Given the description of an element on the screen output the (x, y) to click on. 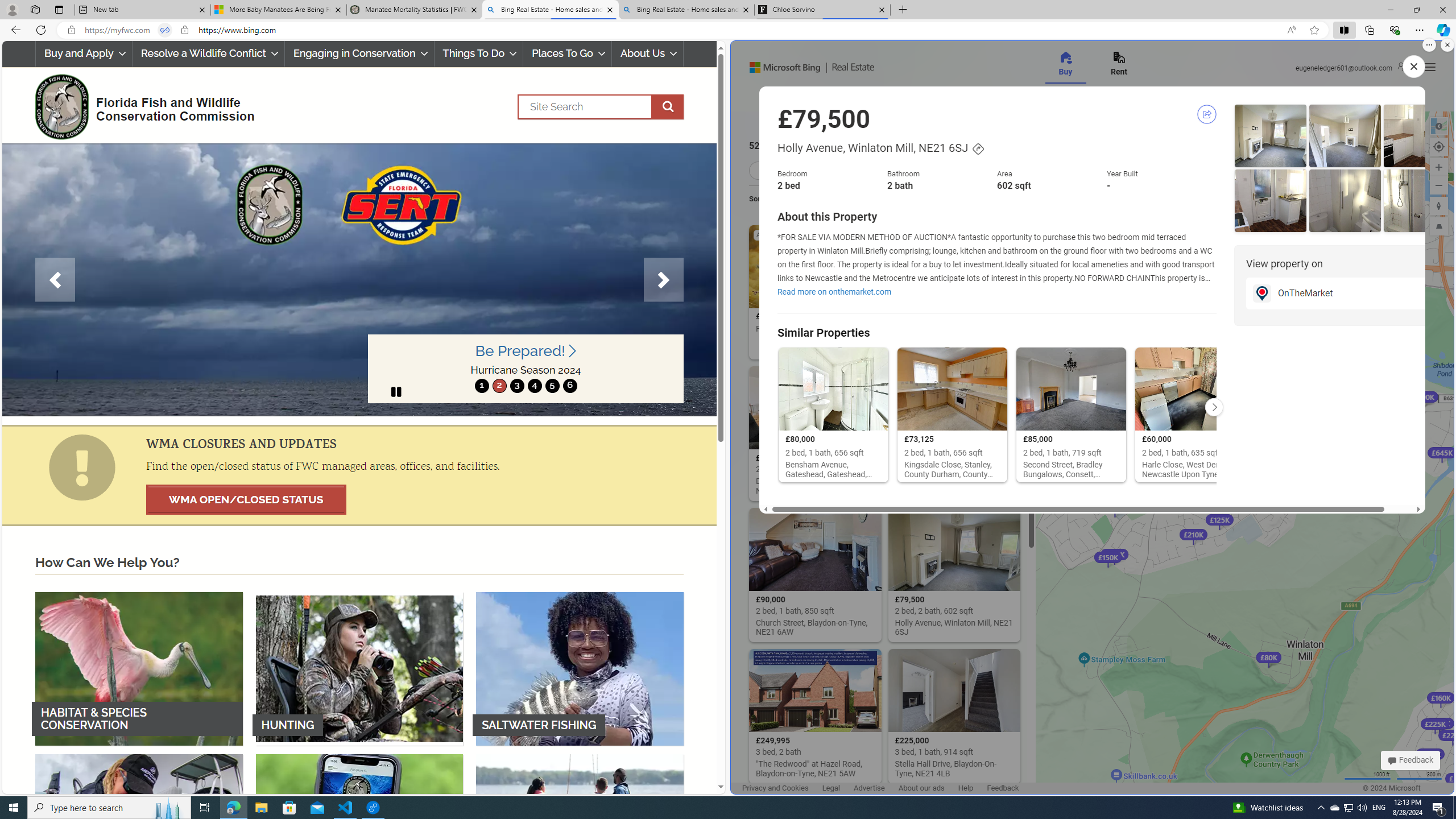
1 (481, 385)
Resolve a Wildlife Conflict (207, 53)
Buy and Apply (84, 53)
2 (499, 385)
Tabs in split screen (164, 29)
Things To Do (477, 53)
Buy and Apply (83, 53)
FWC Logo (61, 106)
SALTWATER FISHING (580, 668)
move to slide 5 (551, 385)
